Given the description of an element on the screen output the (x, y) to click on. 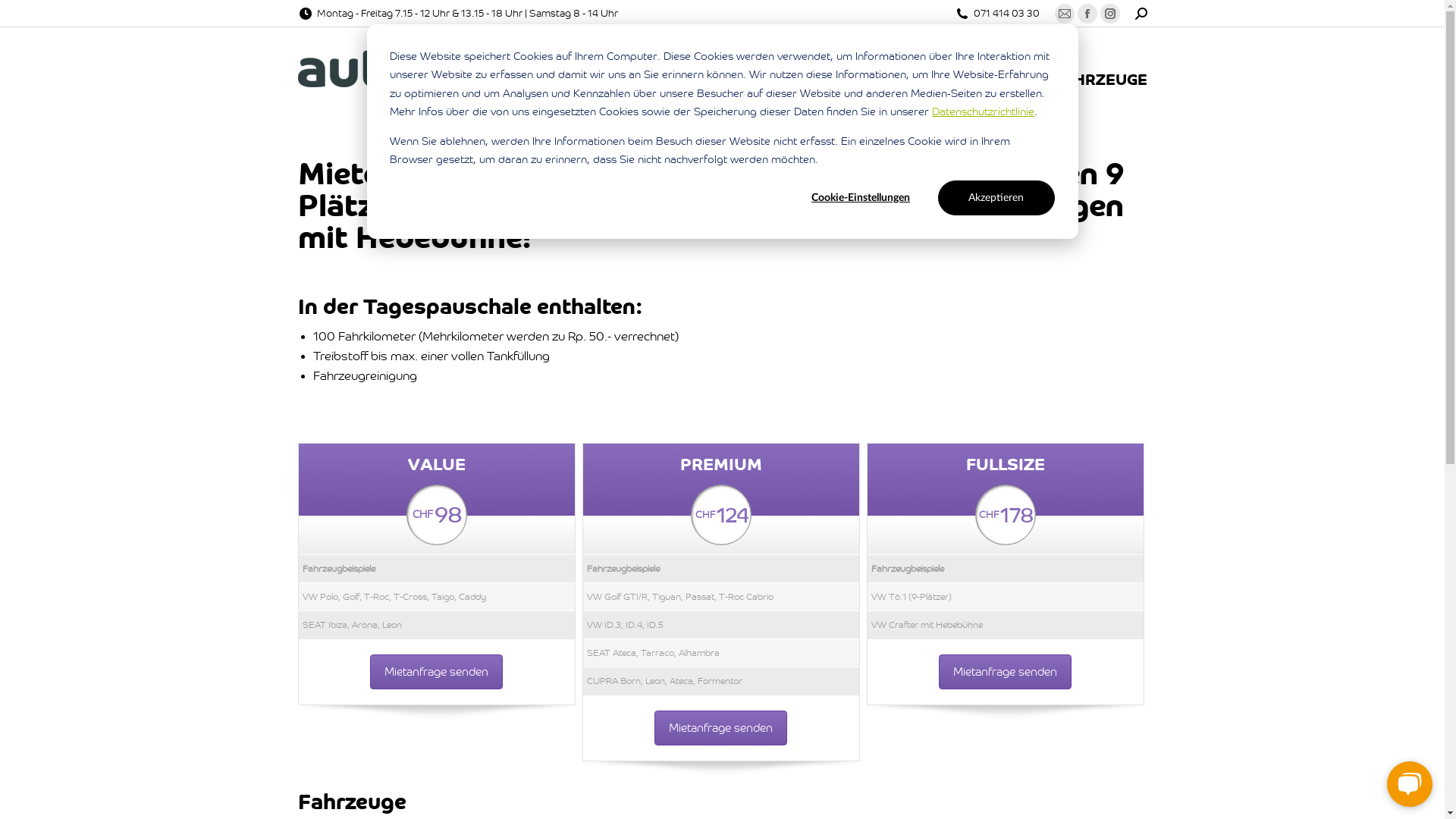
Akzeptieren Element type: text (996, 197)
FAHRZEUGE Element type: text (1099, 66)
Mietanfrage senden Element type: text (720, 727)
Datenschutzrichtlinie Element type: text (982, 112)
WERKSTATT Element type: text (765, 66)
Facebook page opens in new window Element type: text (1086, 13)
E-Mail page opens in new window Element type: text (1063, 13)
Los! Element type: text (26, 17)
071 414 03 30 Element type: text (1006, 13)
Cookie-Einstellungen Element type: text (860, 197)
VERKAUF Element type: text (657, 66)
Instagram page opens in new window Element type: text (1109, 13)
BLOG Element type: text (1017, 66)
Mietanfrage senden Element type: text (1004, 671)
Mietanfrage senden Element type: text (436, 671)
NEWS Element type: text (957, 66)
